Given the description of an element on the screen output the (x, y) to click on. 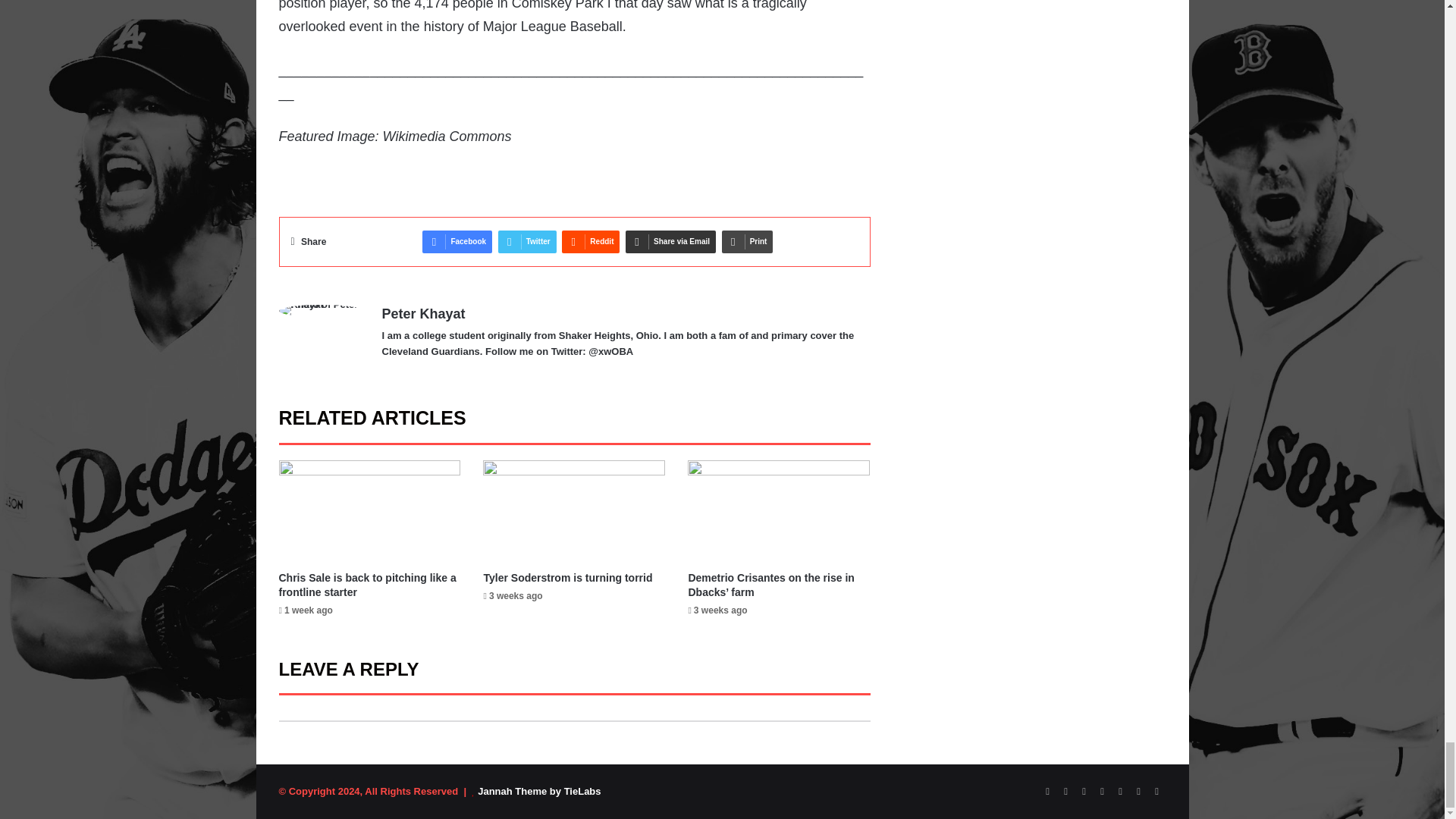
Twitter (526, 241)
Reddit (591, 241)
Print (747, 241)
Facebook (457, 241)
Share via Email (671, 241)
